Given the description of an element on the screen output the (x, y) to click on. 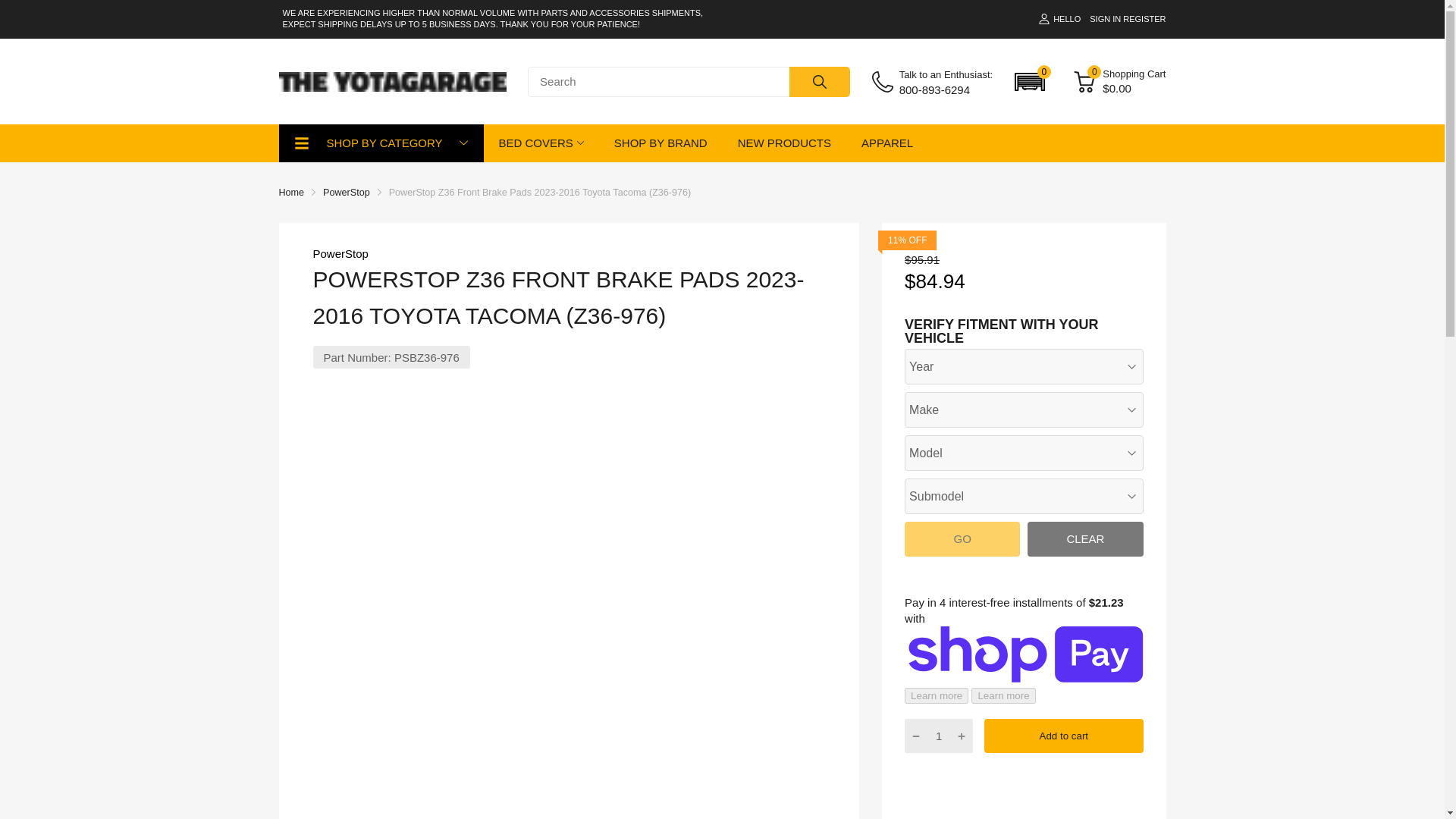
NEW PRODUCTS (784, 143)
SHOP BY BRAND (660, 143)
BED COVERS (536, 143)
0 (1029, 81)
0 (1084, 81)
HELLO (1059, 19)
800-893-6294 (945, 89)
Add to cart (1063, 735)
PowerStop (346, 192)
SIGN IN (1105, 18)
Search (819, 81)
REGISTER (1144, 18)
APPAREL (886, 143)
Home (291, 192)
PowerStop (340, 253)
